Given the description of an element on the screen output the (x, y) to click on. 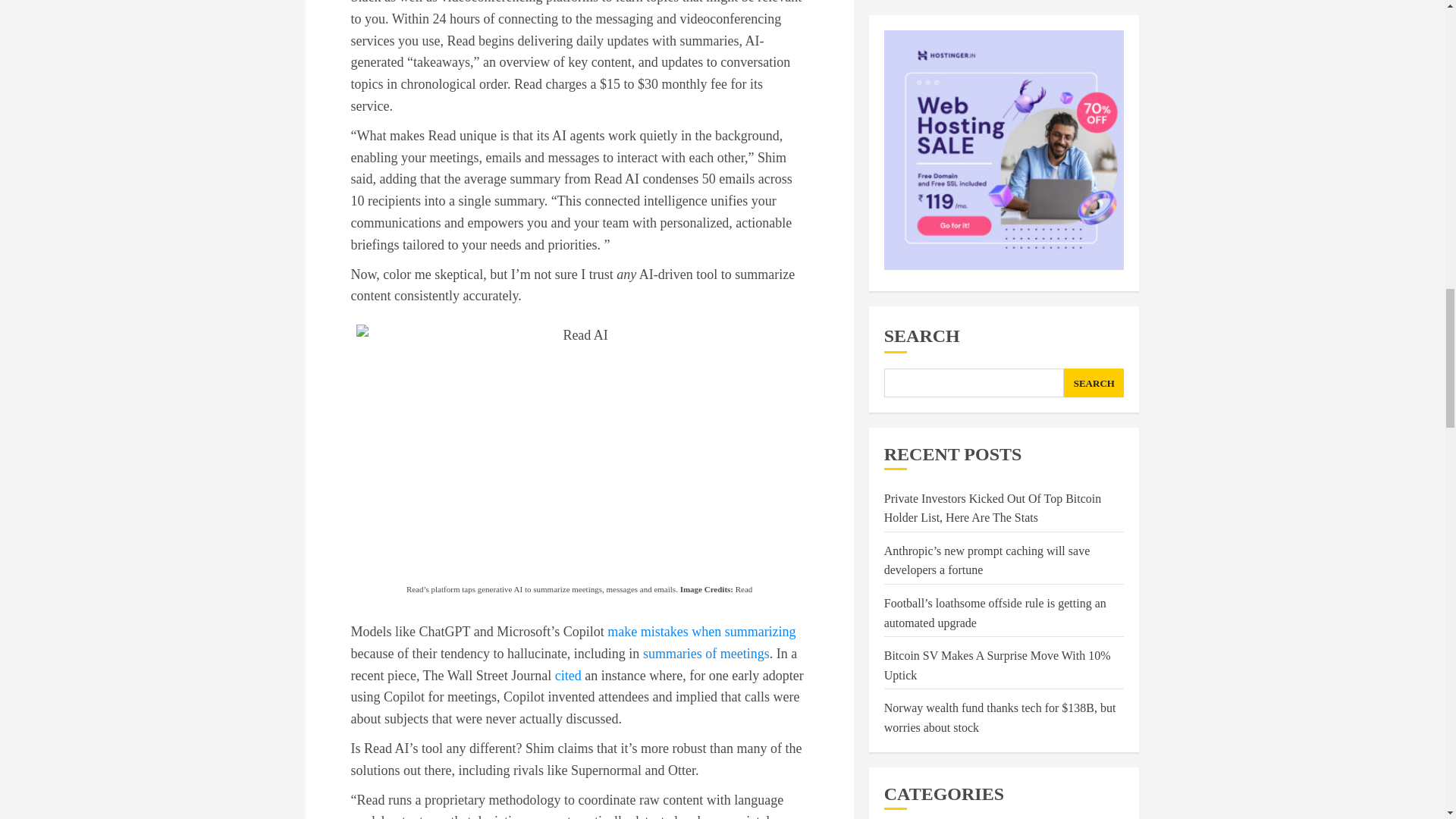
make mistakes when summarizing (700, 631)
summaries of meetings (706, 653)
cited (567, 675)
